Given the description of an element on the screen output the (x, y) to click on. 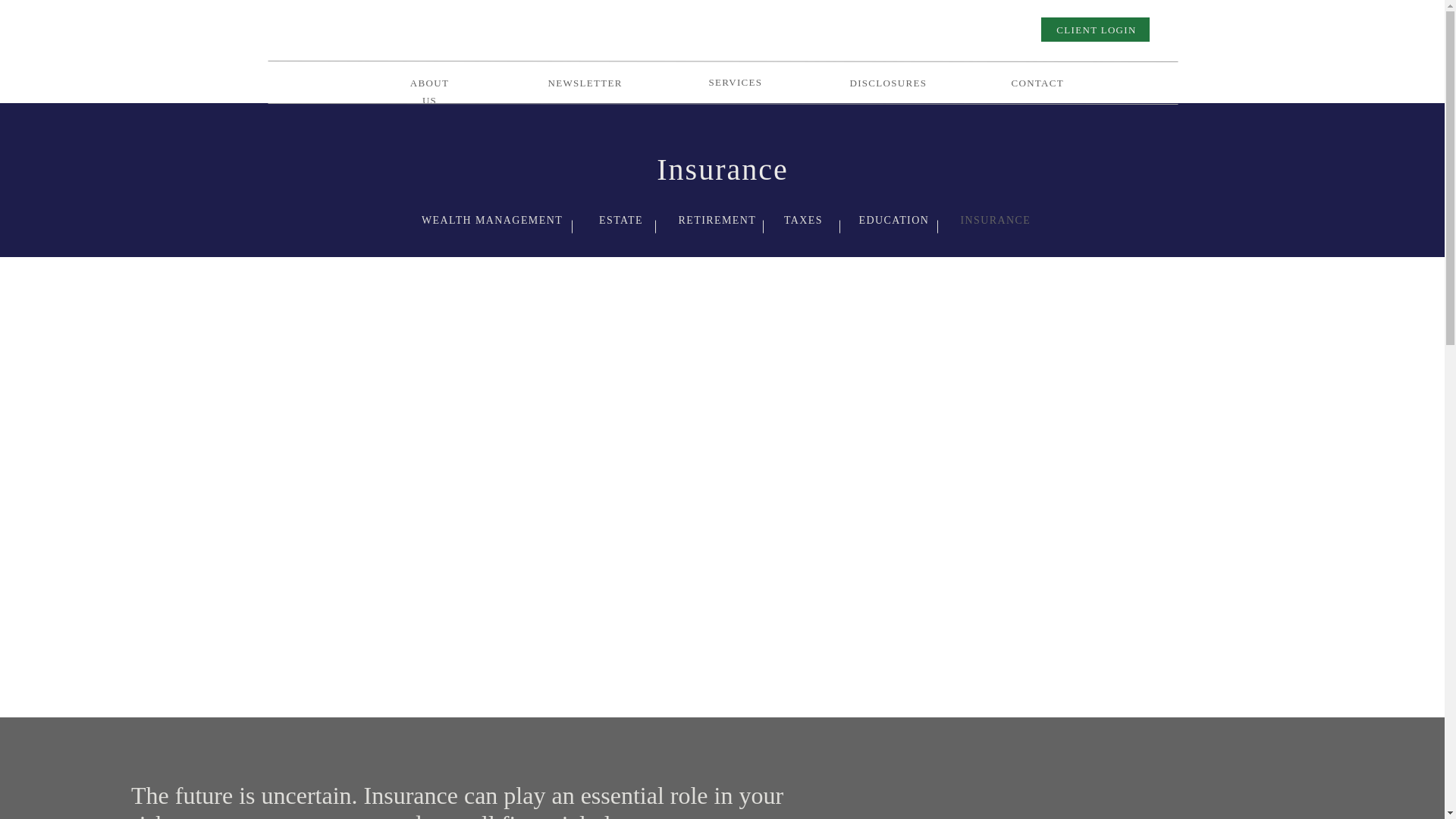
CONTACT (1036, 81)
RETIREMENT (713, 217)
CLIENT LOGIN (1096, 30)
NEWSLETTER (582, 81)
ABOUT US (429, 82)
DISCLOSURES (884, 81)
ESTATE (620, 217)
TAXES (803, 217)
EDUCATION (893, 217)
WEALTH MANAGEMENT (491, 217)
SERVICES (732, 83)
